Given the description of an element on the screen output the (x, y) to click on. 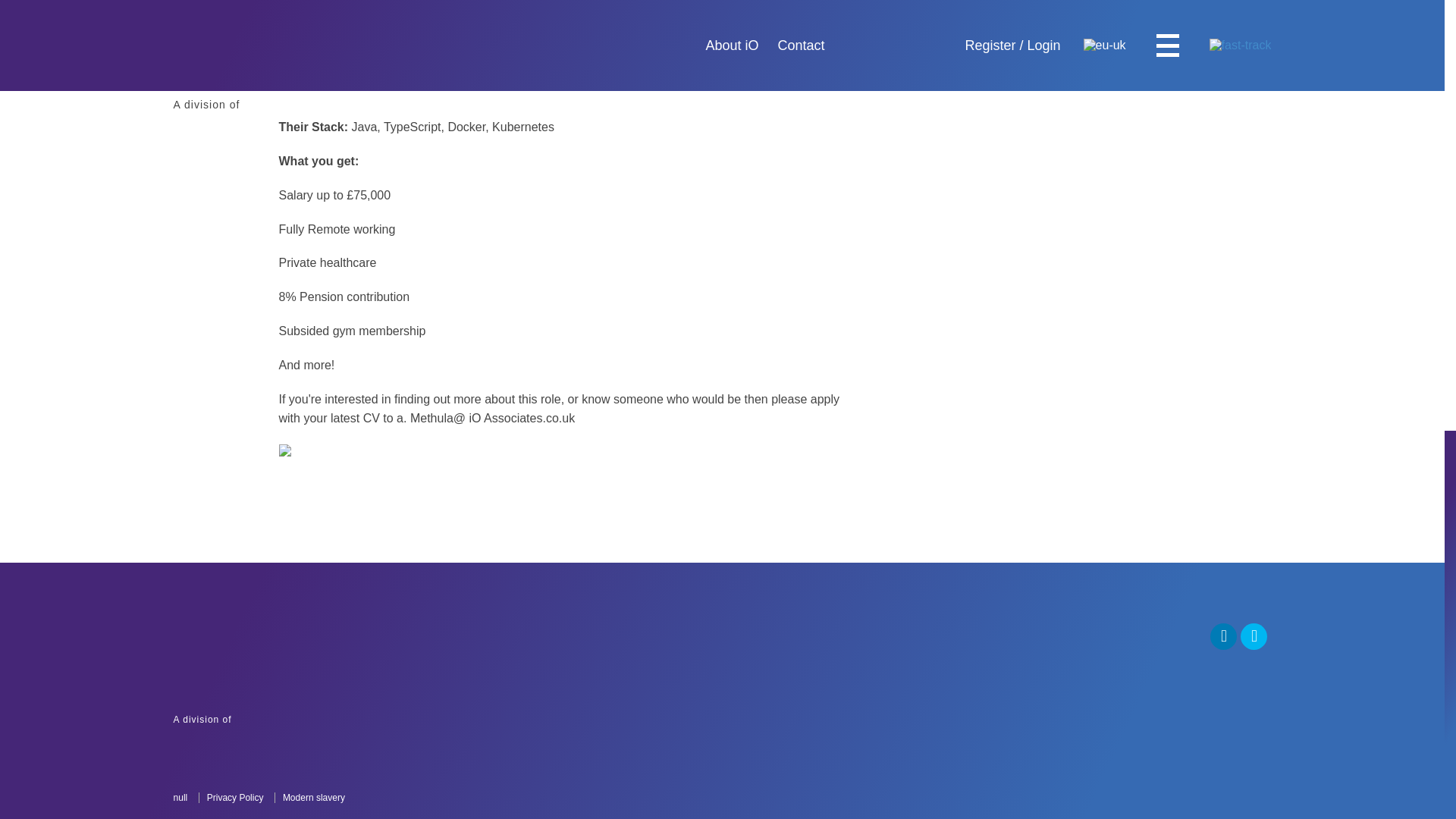
Privacy Policy (283, 719)
Modern slavery (234, 797)
